Given the description of an element on the screen output the (x, y) to click on. 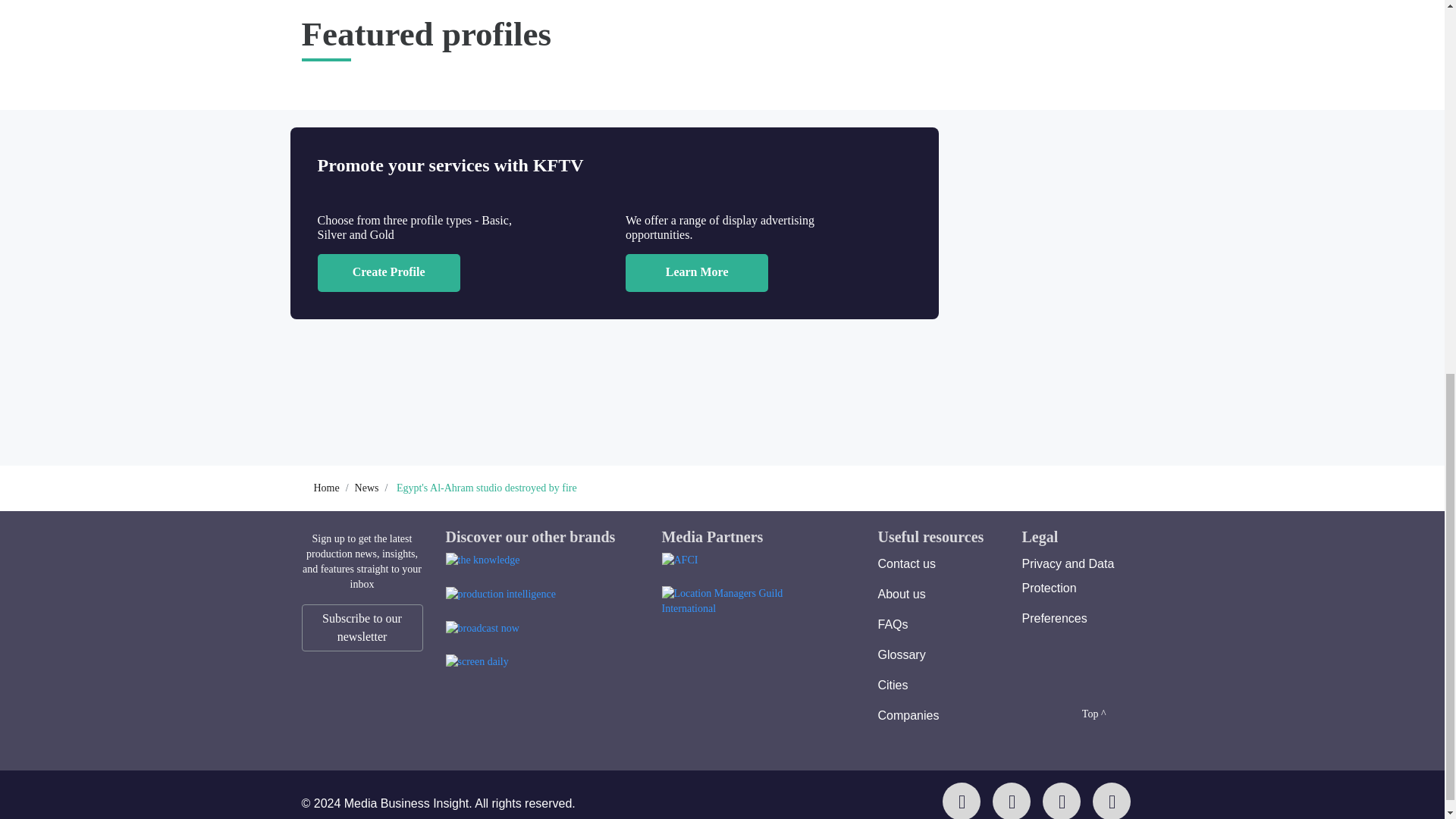
Contact us (906, 563)
Home (326, 487)
FAQs (892, 624)
Privacy and Data Protection (1068, 575)
Subscribe to our newsletter (362, 627)
Learn More (697, 272)
About us (901, 594)
Create Profile (388, 272)
News (366, 487)
Cities (892, 684)
